Given the description of an element on the screen output the (x, y) to click on. 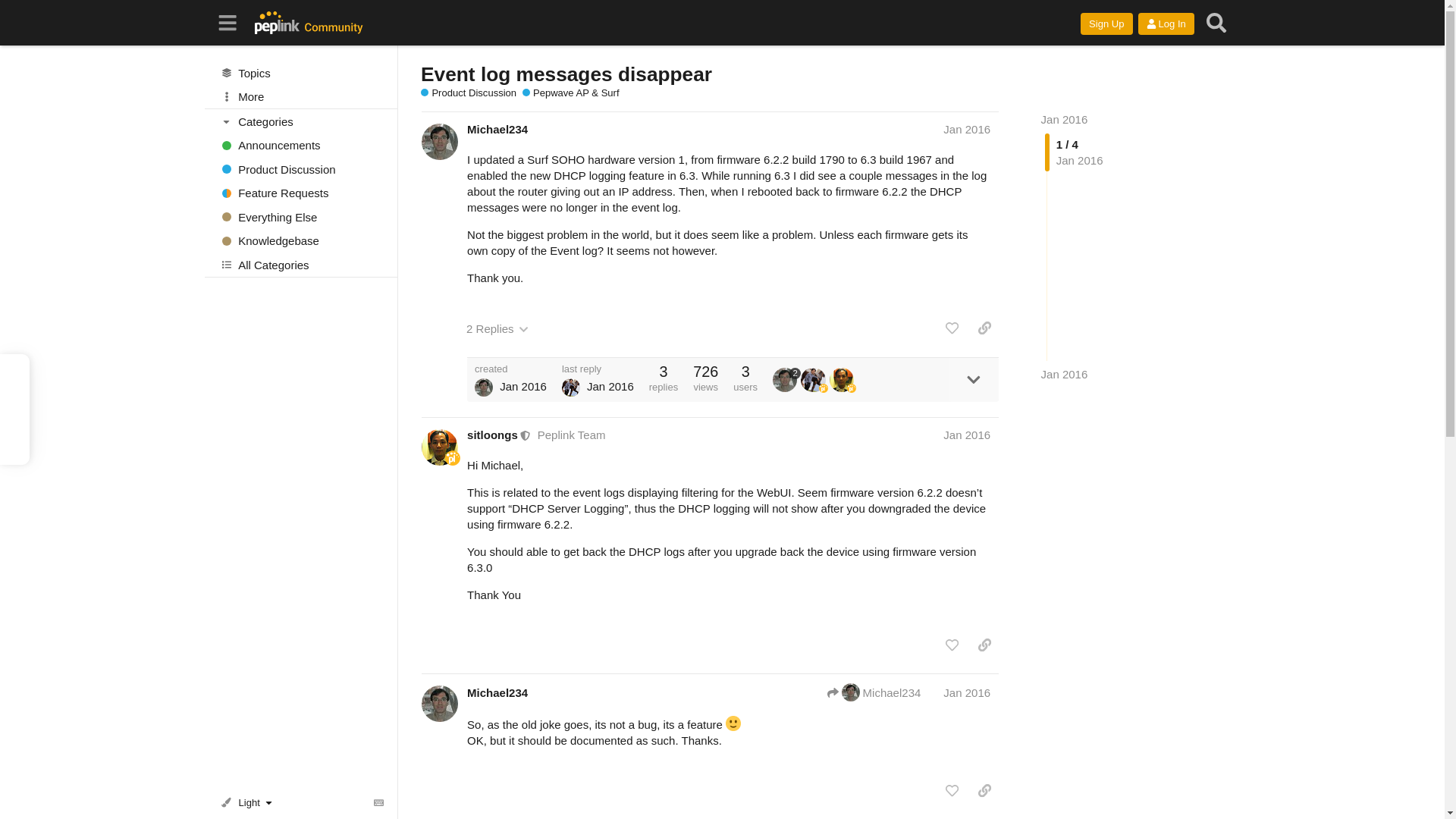
Catch exciting news that we have to share with you. (301, 145)
All Categories (301, 264)
Knowledgebase (301, 241)
Sign Up (1106, 24)
2 Replies (496, 328)
Jan 2016 (1064, 374)
More (301, 96)
Keyboard Shortcuts (378, 802)
Sidebar (227, 22)
All Topics (301, 72)
Toggle section (301, 120)
Search (1215, 22)
Feature Requests (301, 192)
Topics (301, 72)
